Given the description of an element on the screen output the (x, y) to click on. 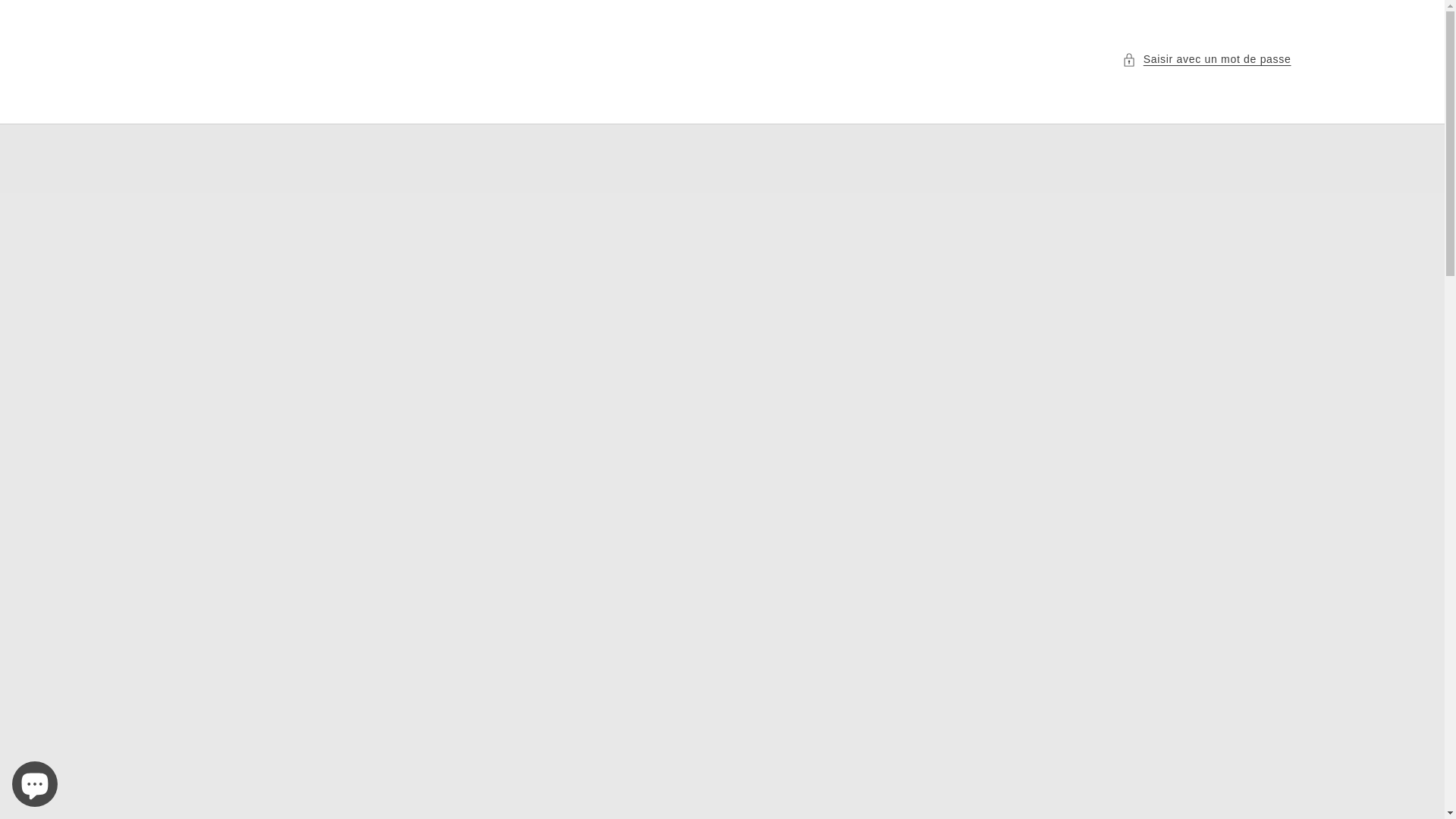
Chat de la boutique en ligne Shopify Element type: hover (34, 780)
